Given the description of an element on the screen output the (x, y) to click on. 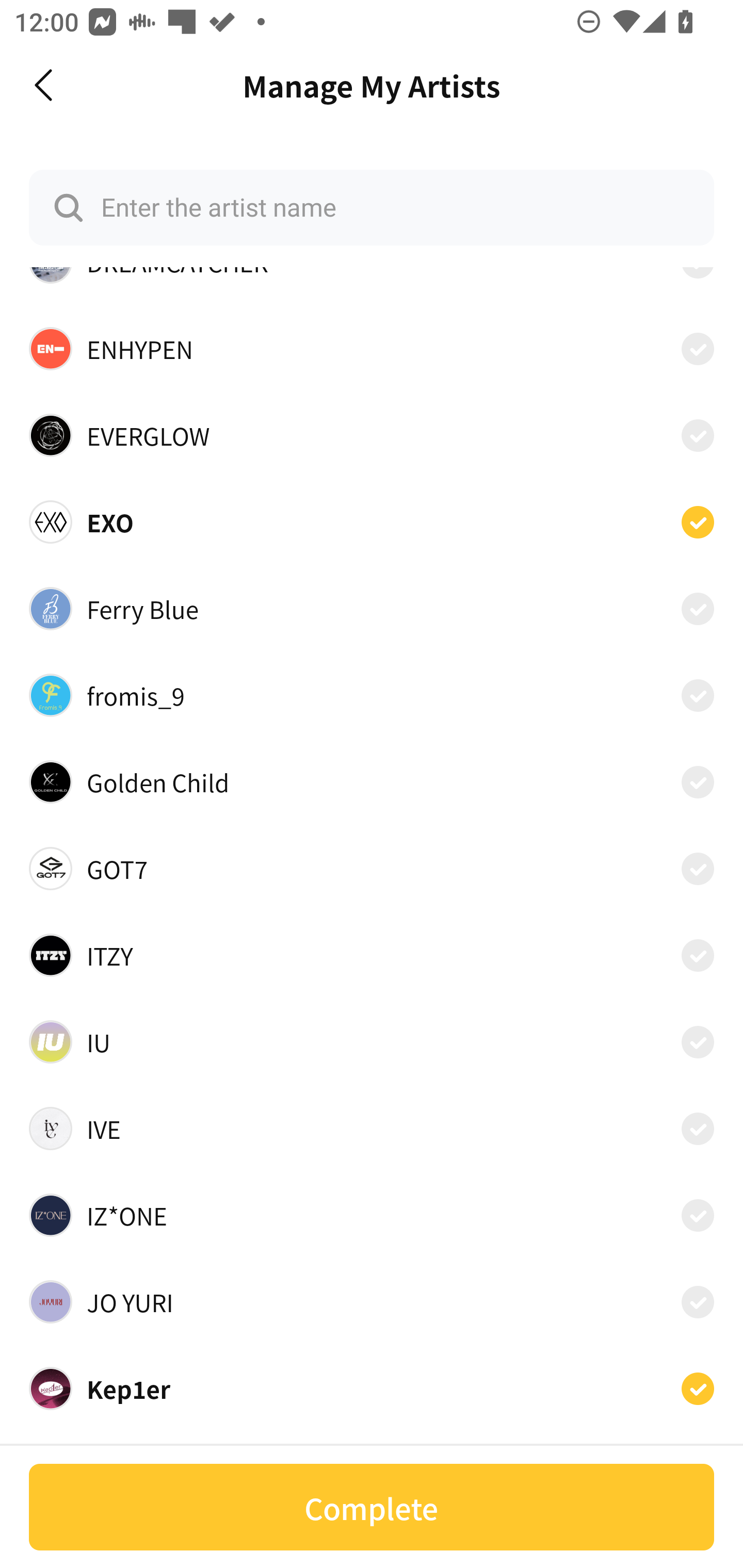
Enter the artist name (371, 207)
ENHYPEN (371, 348)
EVERGLOW (371, 434)
EXO (371, 522)
Ferry Blue (371, 608)
fromis_9 (371, 695)
Golden Child (371, 781)
GOT7 (371, 868)
ITZY (371, 954)
IU (371, 1041)
IVE (371, 1128)
IZ*ONE (371, 1215)
JO YURI (371, 1301)
Kep1er (371, 1388)
Complete (371, 1507)
